Given the description of an element on the screen output the (x, y) to click on. 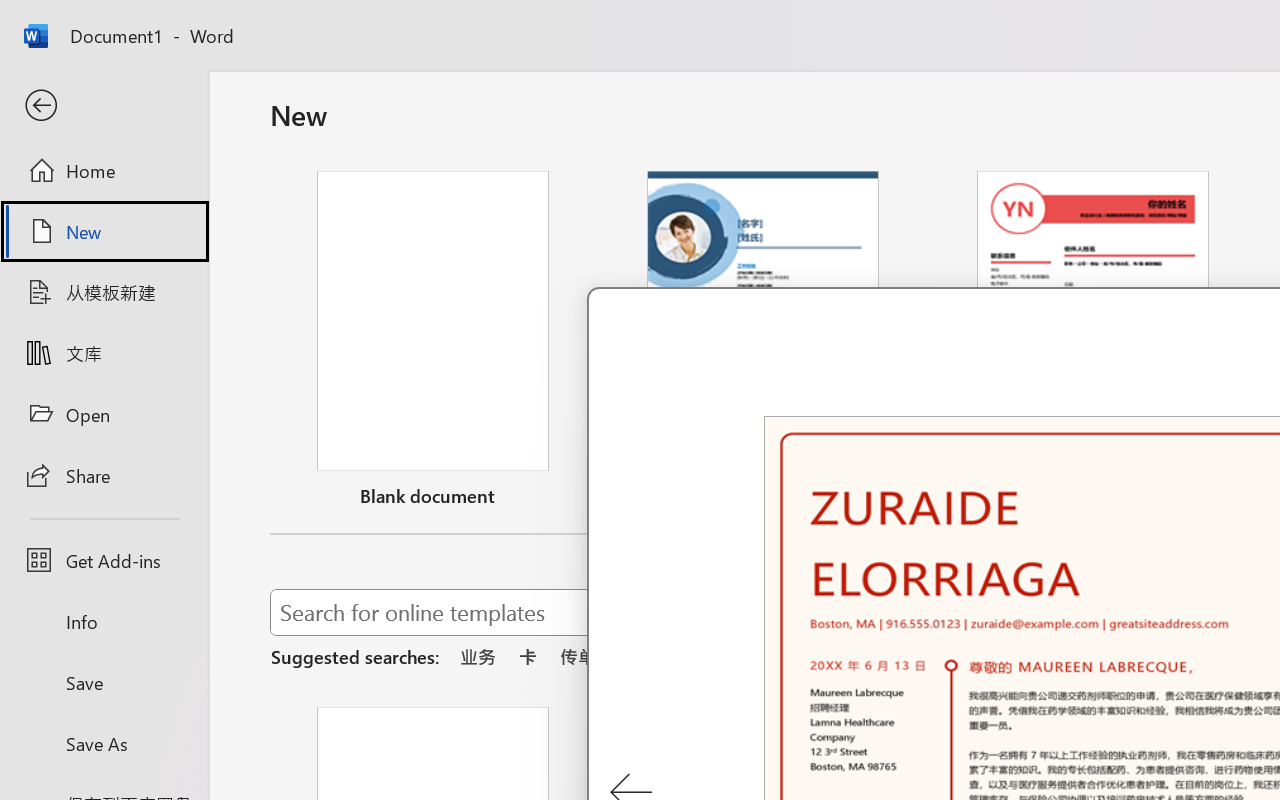
Get Add-ins (104, 560)
New (104, 231)
Info (104, 621)
Unpin from list (1223, 499)
Back (104, 106)
Search for online templates (718, 615)
Blank document (433, 343)
